Given the description of an element on the screen output the (x, y) to click on. 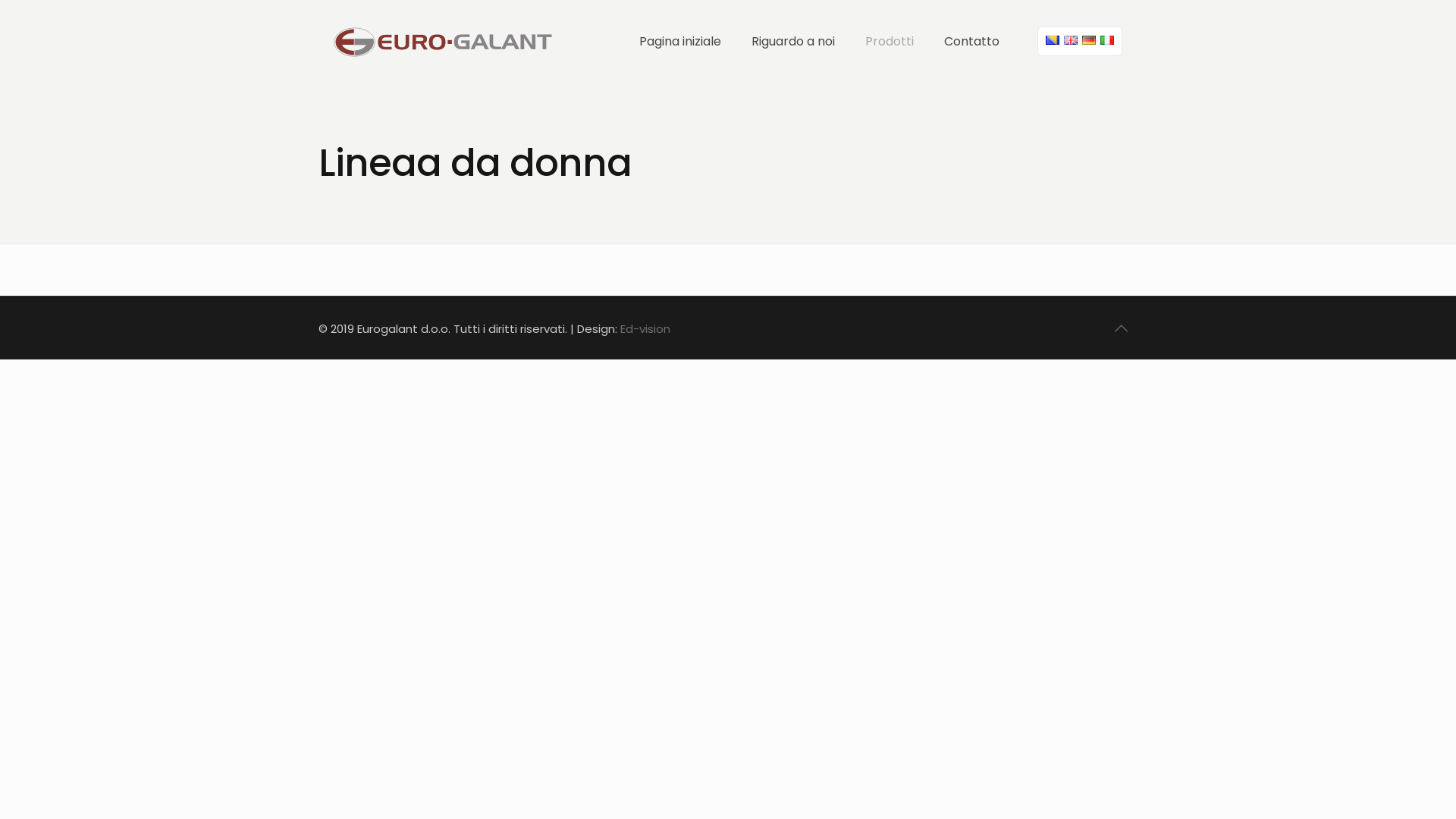
Euro-galant d.o.o. Element type: hover (442, 41)
Ed-vision Element type: text (645, 328)
Prodotti Element type: text (889, 41)
Riguardo a noi Element type: text (793, 41)
Pagina iniziale Element type: text (680, 41)
Contatto Element type: text (971, 41)
